Given the description of an element on the screen output the (x, y) to click on. 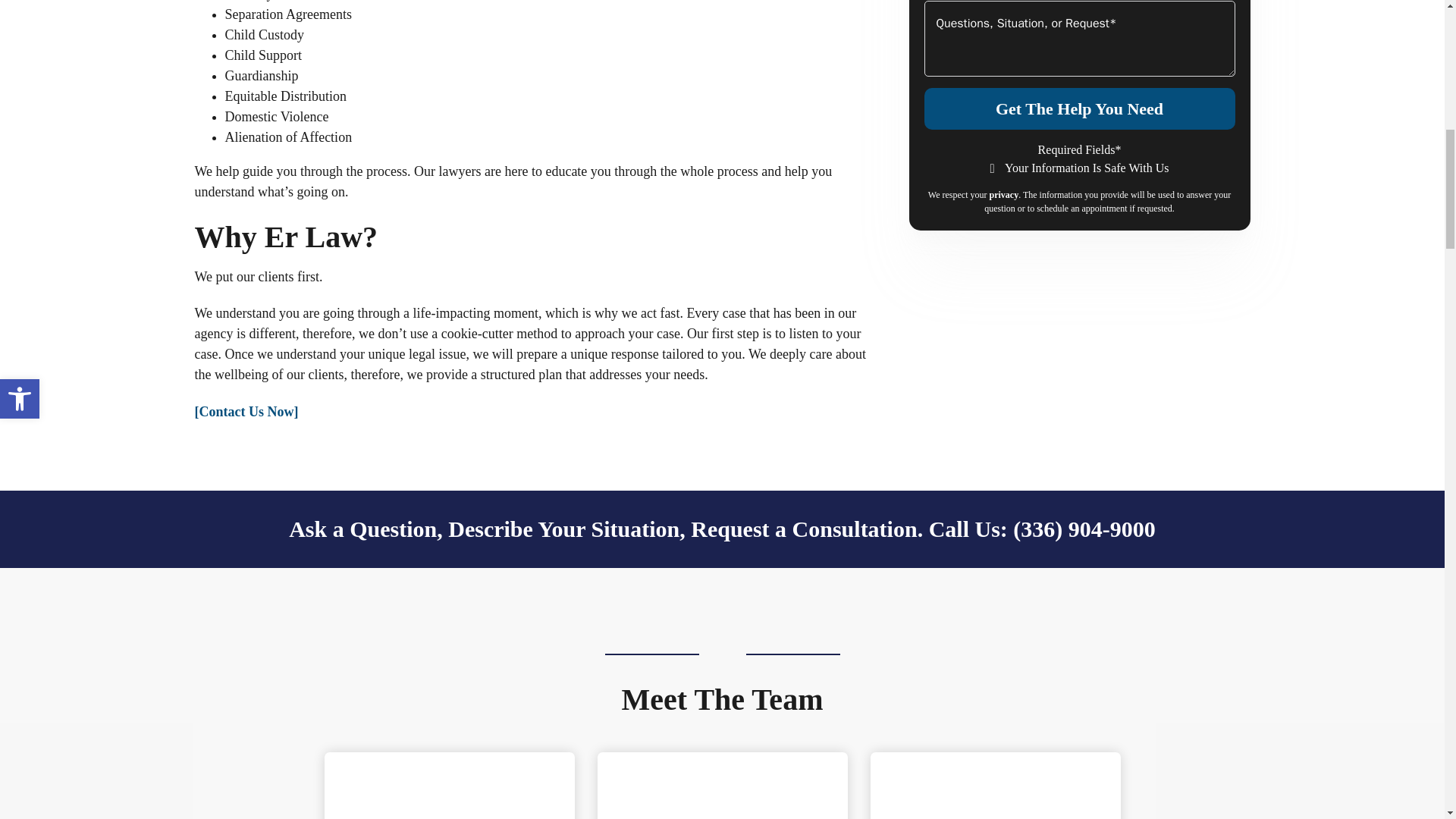
Eric Richardson (449, 785)
Amanda Edwards (995, 785)
Molly Hilburn-Holte (721, 785)
